Given the description of an element on the screen output the (x, y) to click on. 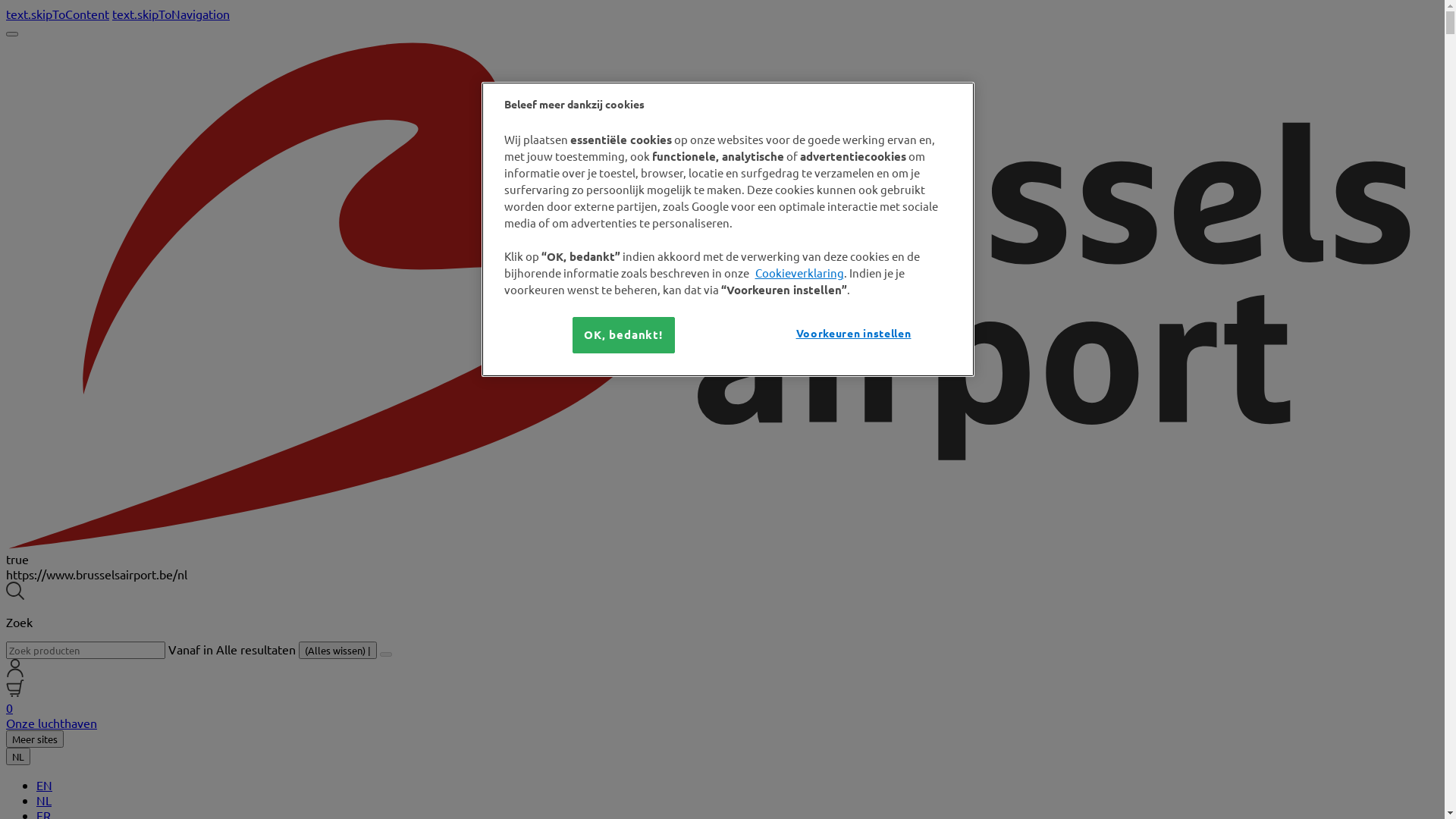
EN Element type: text (44, 784)
Meer sites Element type: text (34, 738)
Onze luchthaven Element type: text (51, 722)
OK, bedankt! Element type: text (622, 334)
text.skipToContent Element type: text (57, 13)
Cookieverklaring Element type: text (799, 272)
NL Element type: text (43, 799)
text.skipToNavigation Element type: text (170, 13)
NL Element type: text (18, 756)
Voorkeuren instellen Element type: text (853, 333)
(Alles wissen) | Element type: text (337, 649)
0 Element type: text (722, 699)
